Given the description of an element on the screen output the (x, y) to click on. 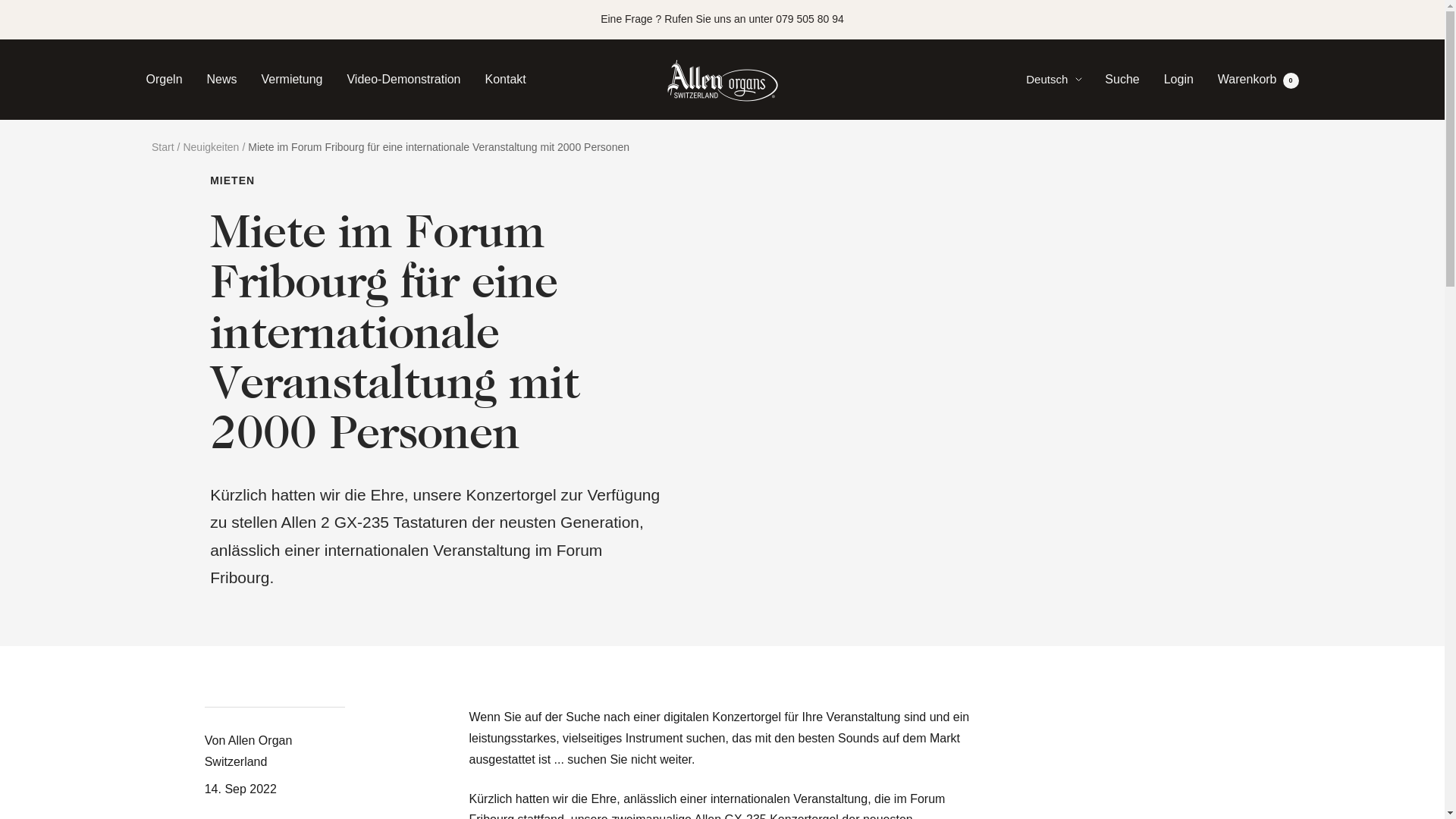
Suche Element type: text (1121, 78)
Start Element type: text (162, 147)
Orgeln Element type: text (163, 79)
Neuigkeiten Element type: text (210, 147)
News Element type: text (222, 79)
Login Element type: text (1178, 78)
Deutsch Element type: text (1054, 79)
Allen Organ Switzerland Element type: text (721, 79)
de Element type: text (1046, 158)
Vermietung Element type: text (292, 79)
Warenkorb
0 Element type: text (1258, 78)
Video-Demonstration Element type: text (403, 79)
fr Element type: text (1046, 132)
MIETEN Element type: text (439, 180)
Kontakt Element type: text (505, 79)
